Given the description of an element on the screen output the (x, y) to click on. 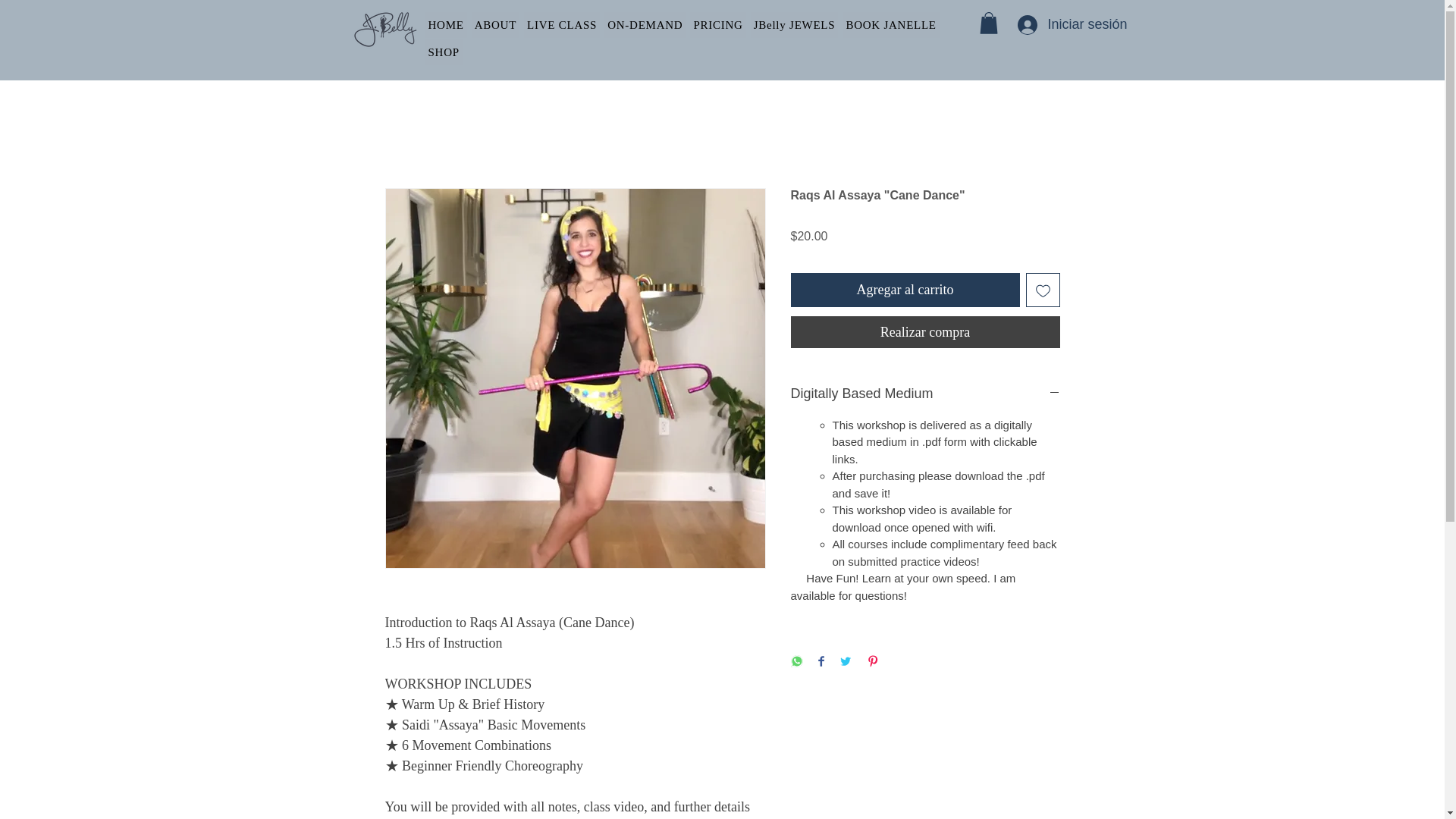
Digitally Based Medium (924, 393)
JBelly JEWELS (794, 24)
BOOK JANELLE (891, 24)
ON-DEMAND (644, 24)
Agregar al carrito (904, 289)
PRICING (717, 24)
HOME (445, 24)
LIVE CLASS (561, 24)
Realizar compra (924, 332)
